Given the description of an element on the screen output the (x, y) to click on. 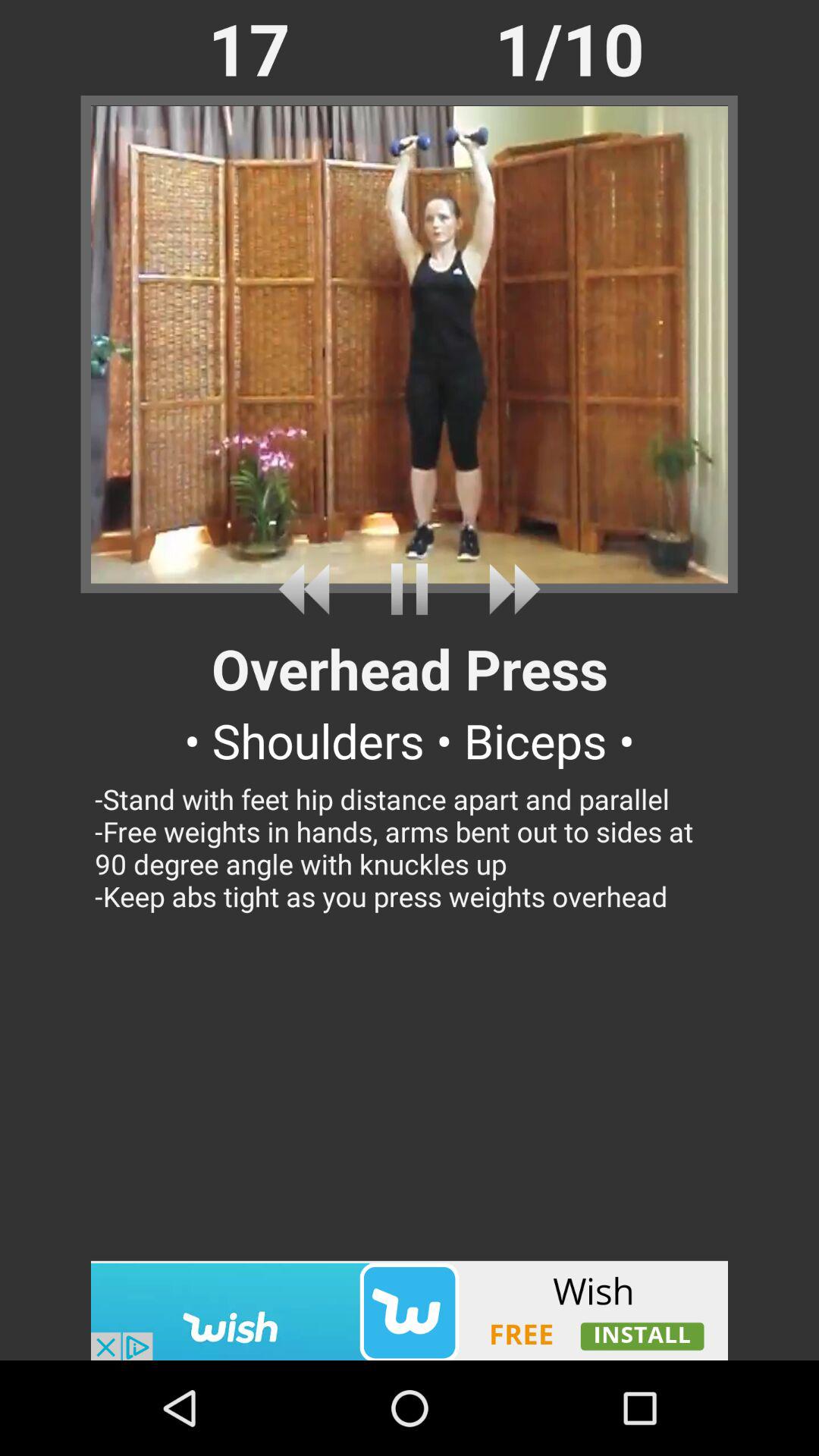
go to advertiser link (409, 1310)
